Given the description of an element on the screen output the (x, y) to click on. 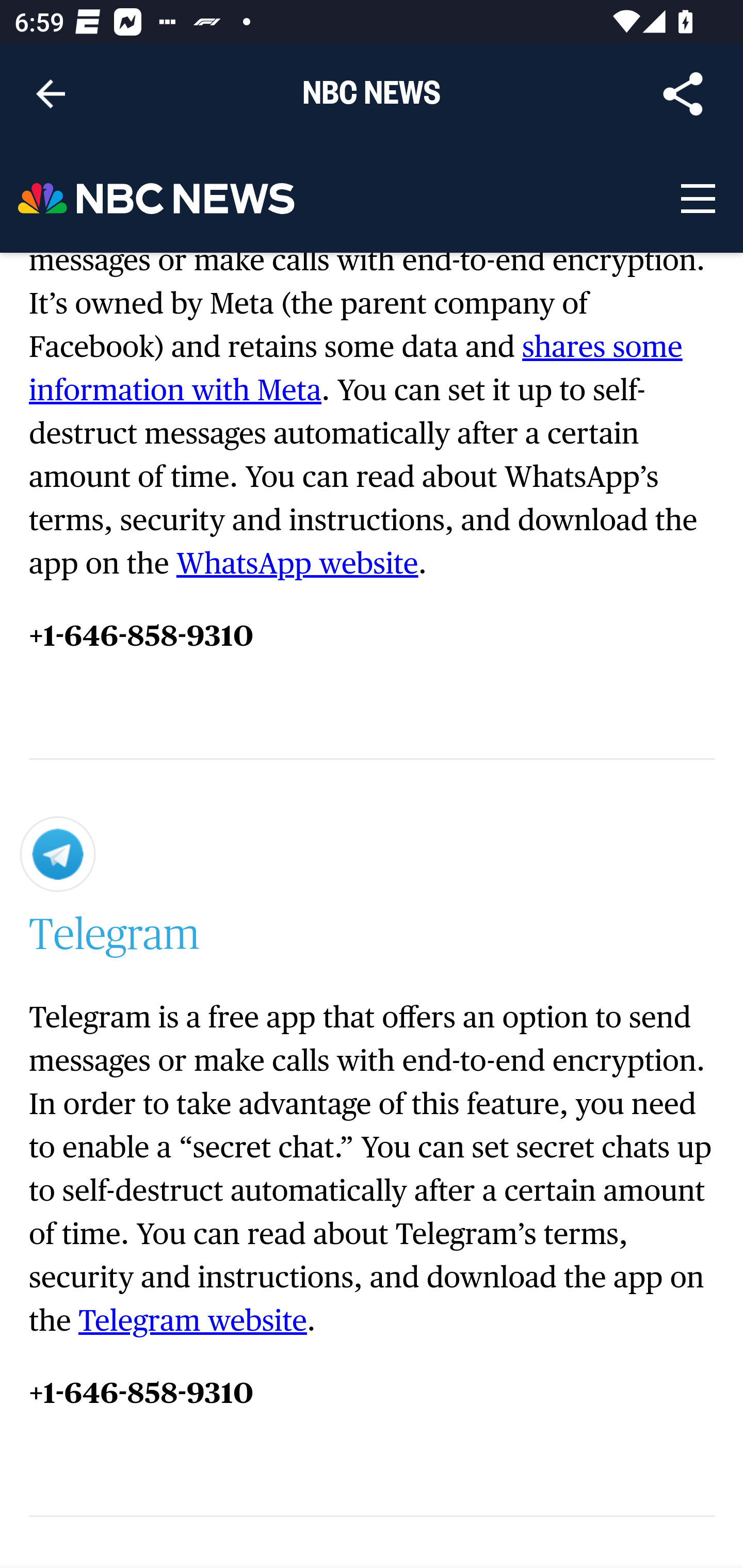
Navigate up (50, 93)
Share Article, button (683, 94)
NBC News Logo (156, 199)
news navigation and search (696, 199)
shares some information with Meta (356, 369)
WhatsApp website (296, 565)
Telegram website (191, 1321)
